Given the description of an element on the screen output the (x, y) to click on. 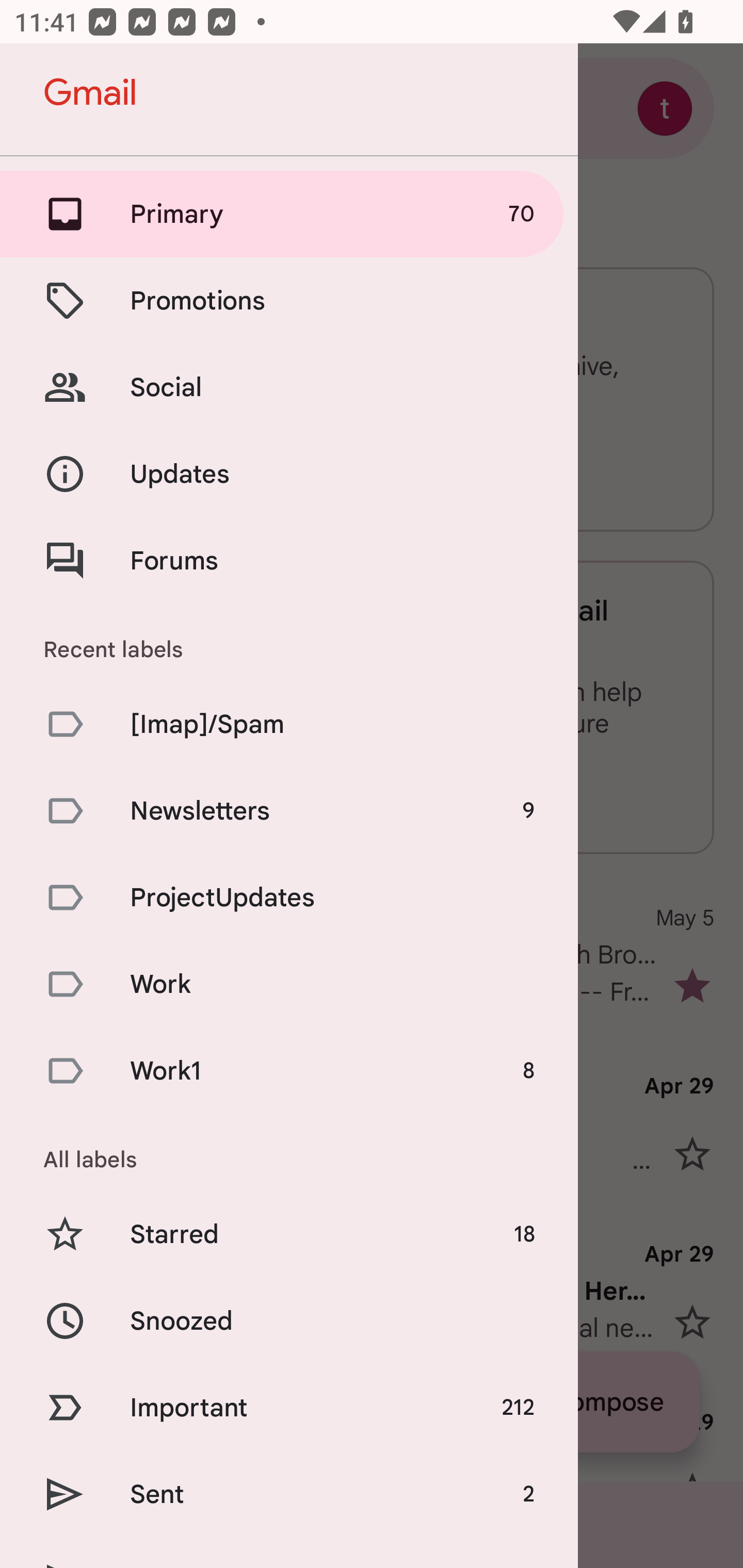
Primary 70 (289, 213)
Promotions (289, 300)
Social (289, 387)
No thanks (390, 473)
Forums (289, 560)
[Imap]/Spam (289, 723)
Newsletters 9 (289, 810)
ProjectUpdates (289, 897)
Work (289, 983)
Work1 8 (289, 1070)
Starred 18 (289, 1234)
Snoozed (289, 1320)
Important 212 (289, 1407)
Sent 2 (289, 1494)
